Given the description of an element on the screen output the (x, y) to click on. 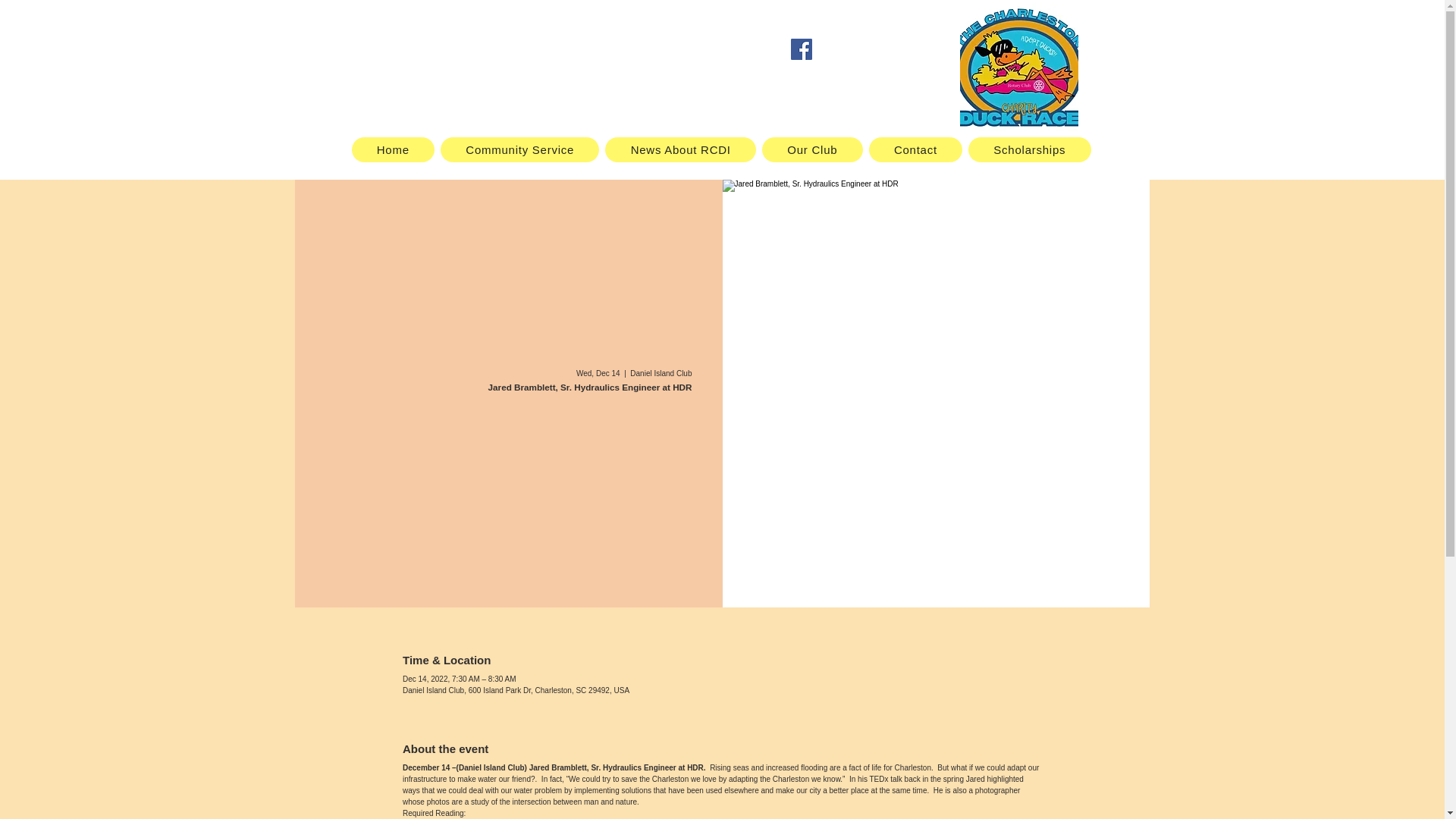
News About RCDI (680, 149)
Contact (915, 149)
Scholarships (1029, 149)
Community Service (519, 149)
Home (393, 149)
